Given the description of an element on the screen output the (x, y) to click on. 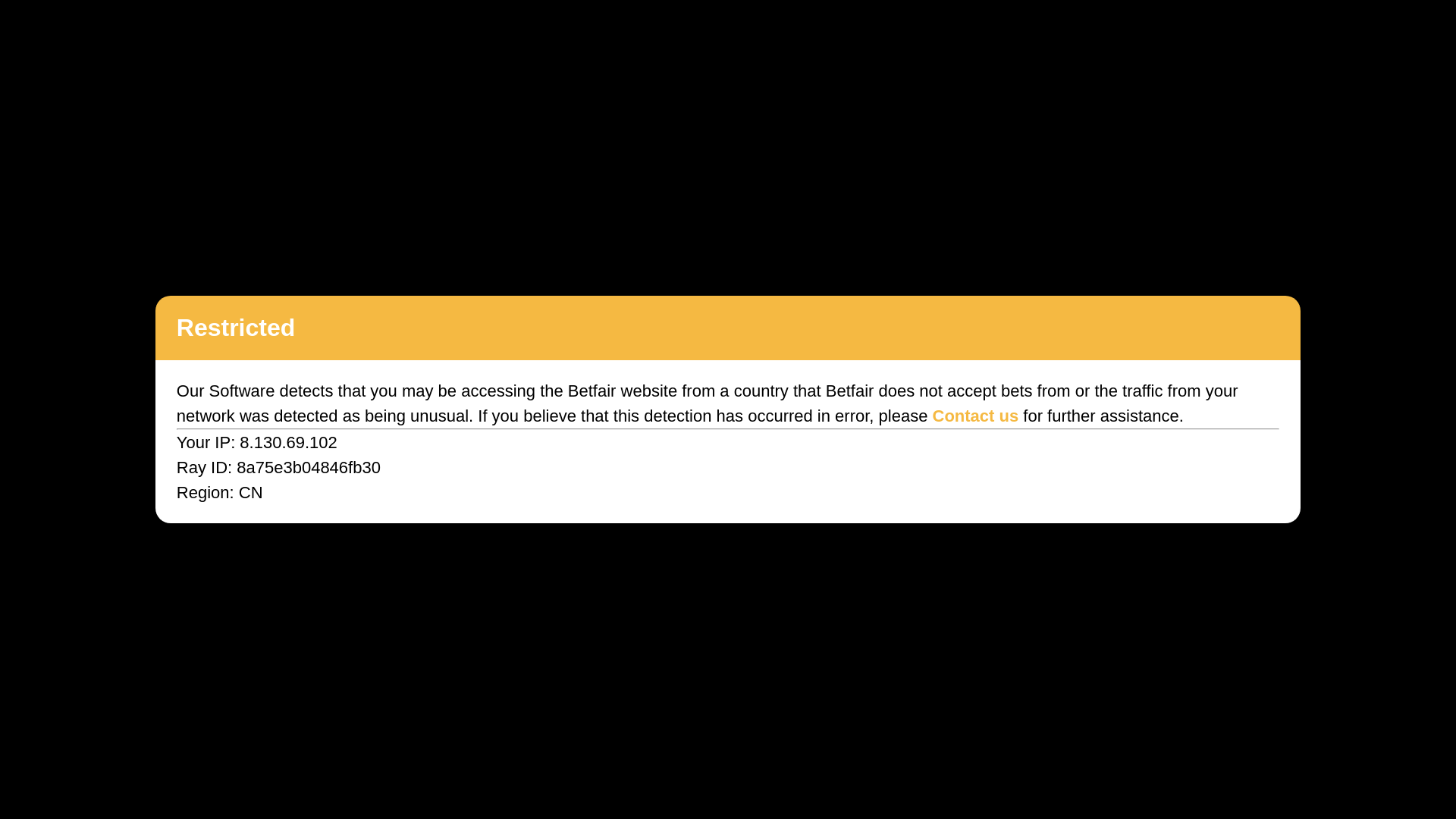
Contact us (976, 415)
